Given the description of an element on the screen output the (x, y) to click on. 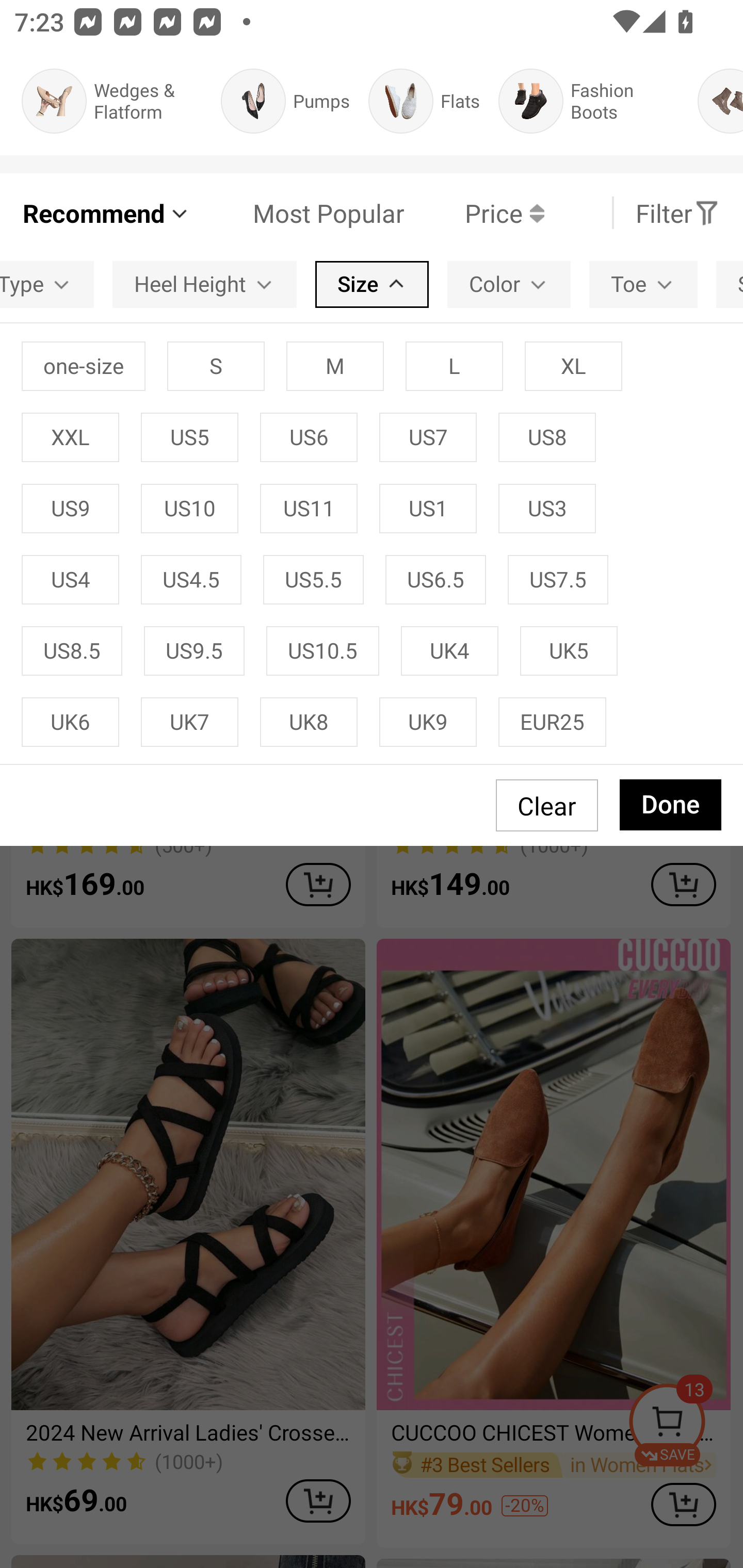
Wedges & Flatform (111, 100)
Pumps (284, 100)
Flats (423, 100)
Fashion Boots (588, 100)
Recommend (106, 213)
Most Popular (297, 213)
Price (474, 213)
Filter (677, 213)
Type (46, 283)
Heel Height (204, 283)
Size (371, 283)
Color (508, 283)
Toe (643, 283)
